Given the description of an element on the screen output the (x, y) to click on. 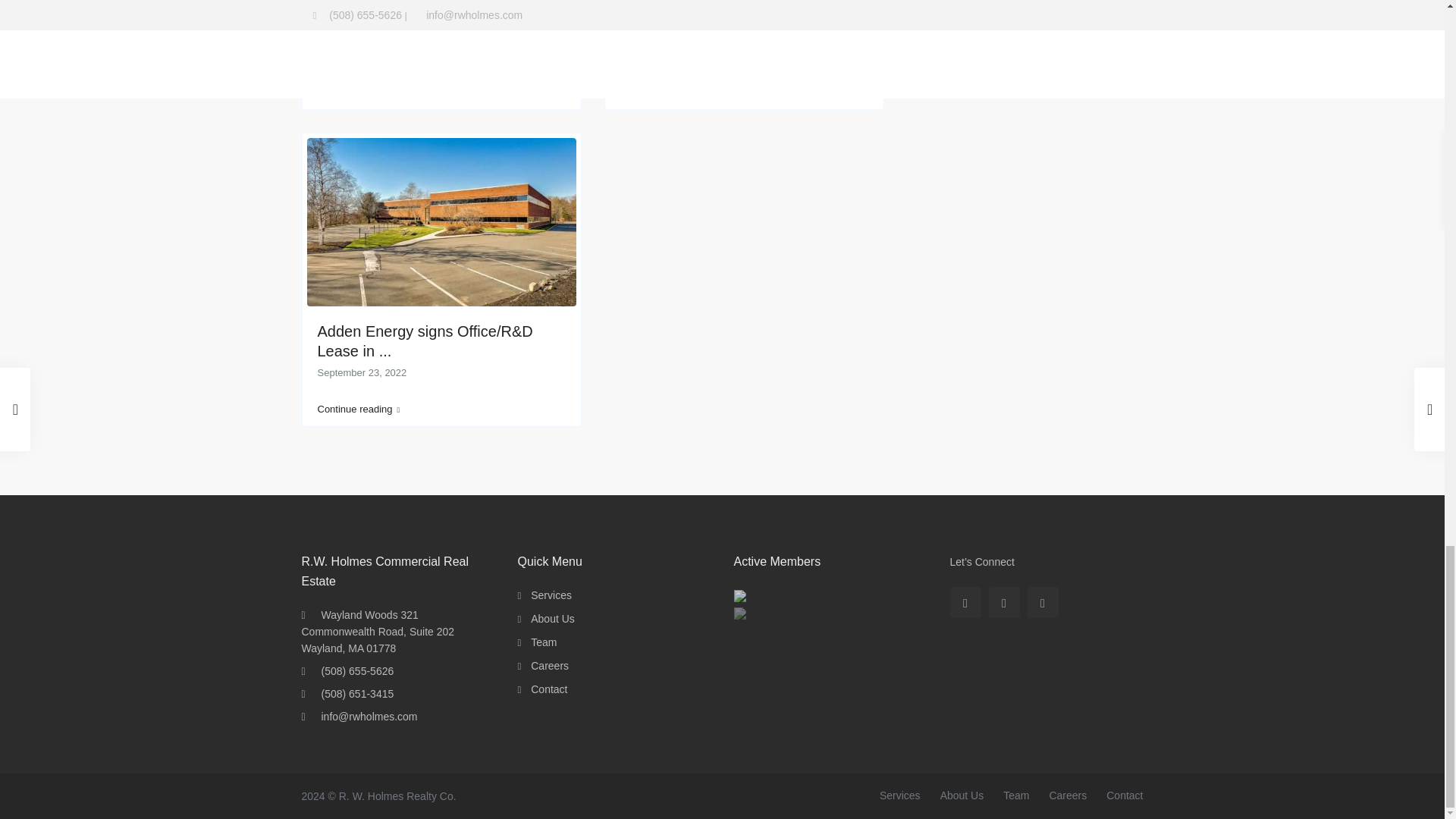
Contact (1124, 795)
About (553, 618)
Team (1016, 795)
Contact (549, 689)
Careers (550, 665)
Services (551, 594)
Team (543, 642)
Careers (1067, 795)
About (962, 795)
Services (899, 795)
